Given the description of an element on the screen output the (x, y) to click on. 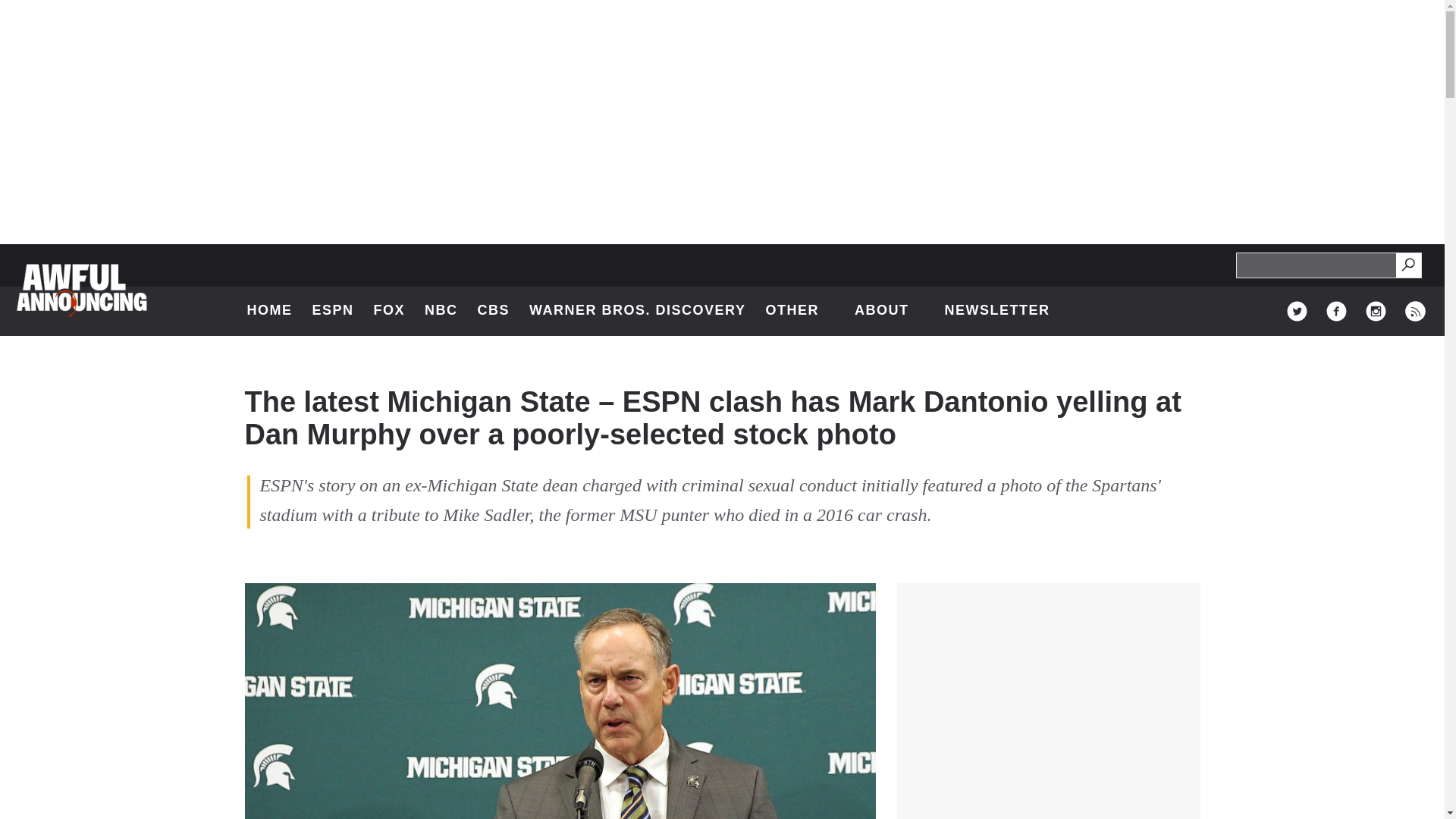
SEARCH (1407, 264)
WARNER BROS. DISCOVERY (636, 310)
ESPN (332, 310)
Link to Facebook (1336, 310)
NEWSLETTER (1409, 265)
NBC (996, 310)
ABOUT (441, 310)
HOME (889, 310)
CBS (269, 310)
Link to Twitter (493, 310)
Link to RSS (1296, 310)
FOX (1414, 310)
Link to Instagram (390, 310)
OTHER (1375, 310)
